Given the description of an element on the screen output the (x, y) to click on. 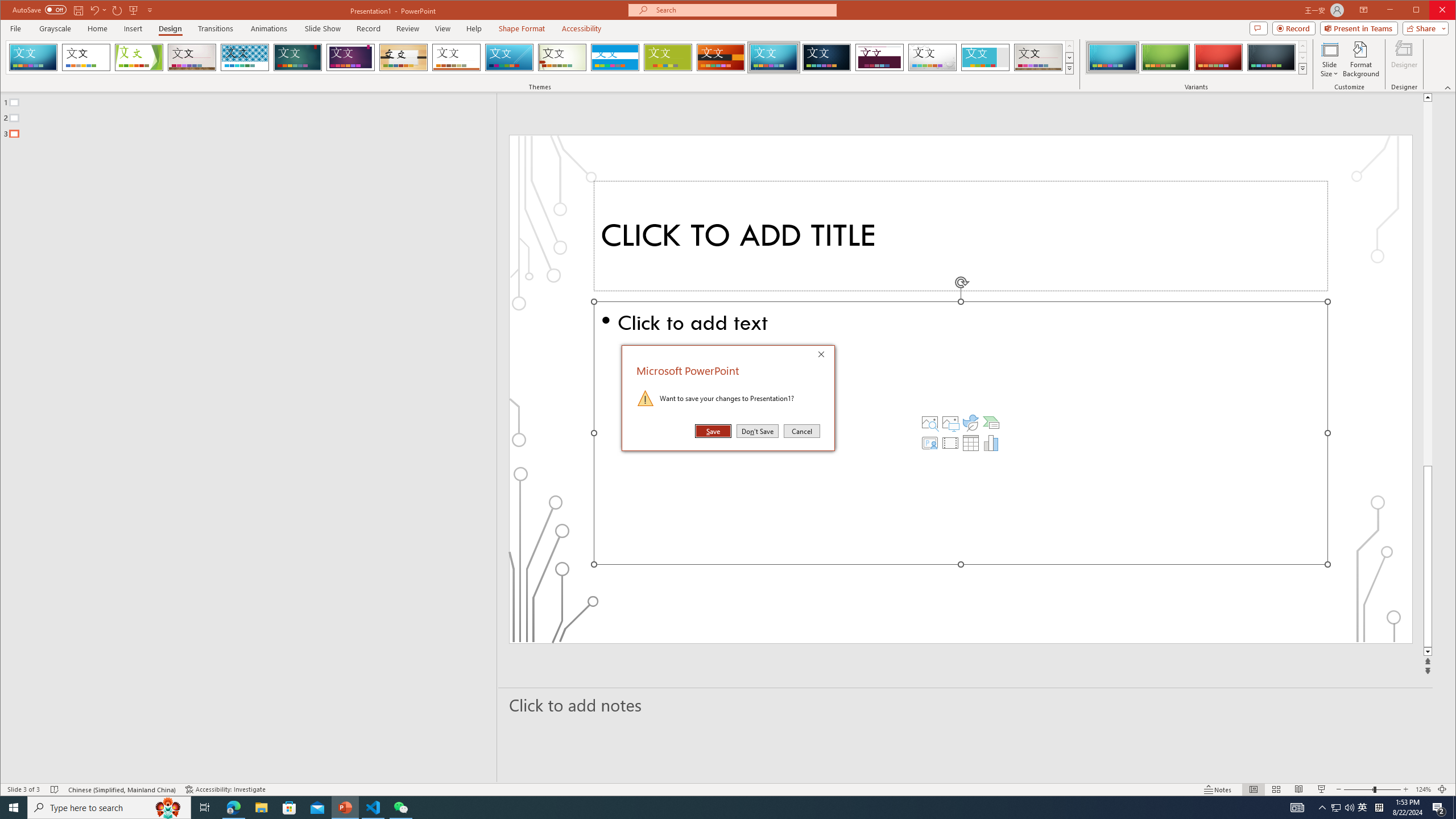
Facet (138, 57)
AutomationID: SlideThemesGallery (540, 57)
Berlin (720, 57)
Circuit Variant 1 (1112, 57)
Zoom 124% (1422, 789)
Pictures (949, 422)
Start (13, 807)
Line up (1427, 96)
